Given the description of an element on the screen output the (x, y) to click on. 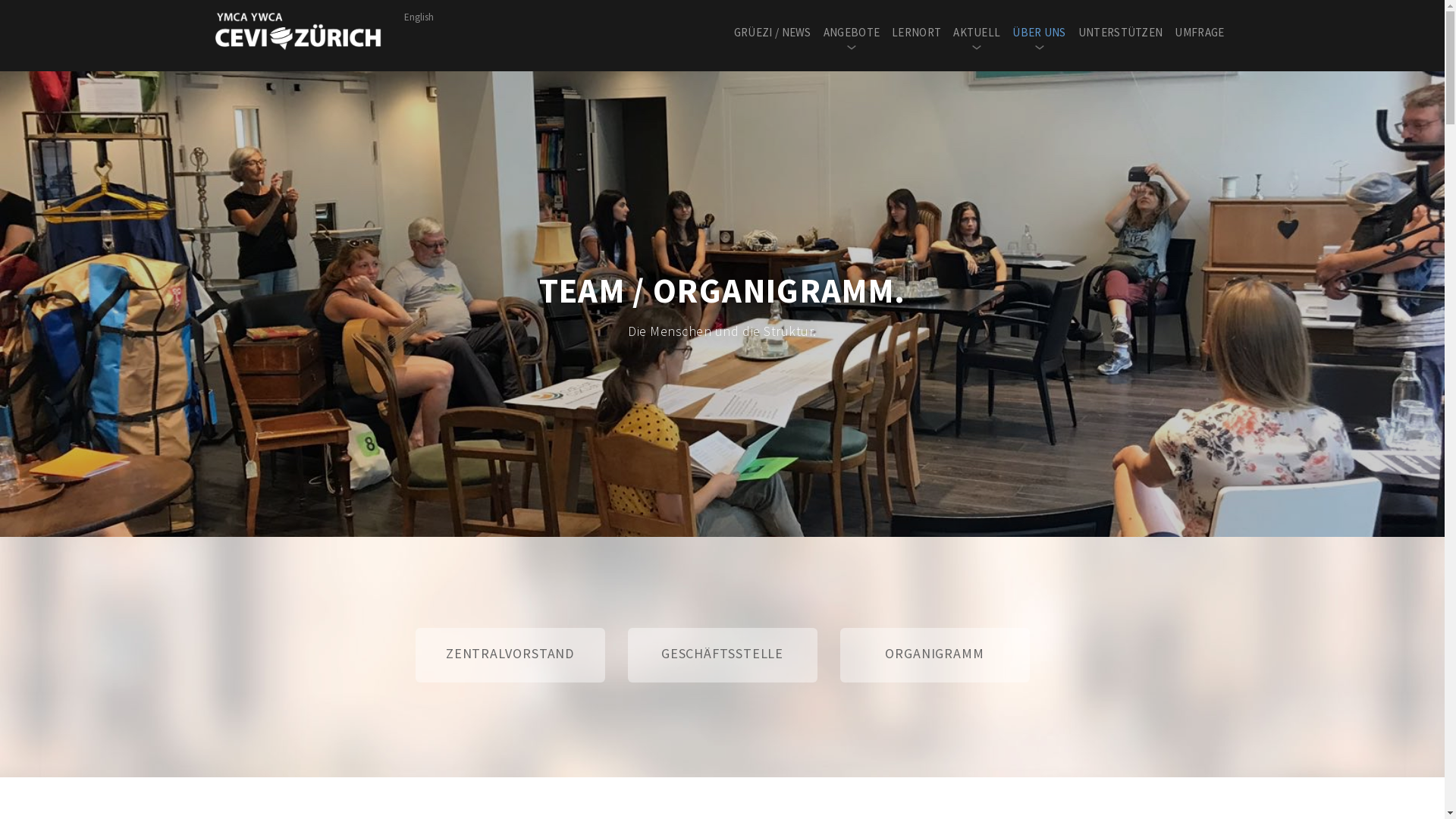
ANGEBOTE Element type: text (851, 40)
ORGANIGRAMM Element type: text (934, 654)
LERNORT Element type: text (916, 31)
ZENTRALVORSTAND Element type: text (510, 654)
UMFRAGE Element type: text (1199, 31)
AKTUELL Element type: text (976, 40)
